Given the description of an element on the screen output the (x, y) to click on. 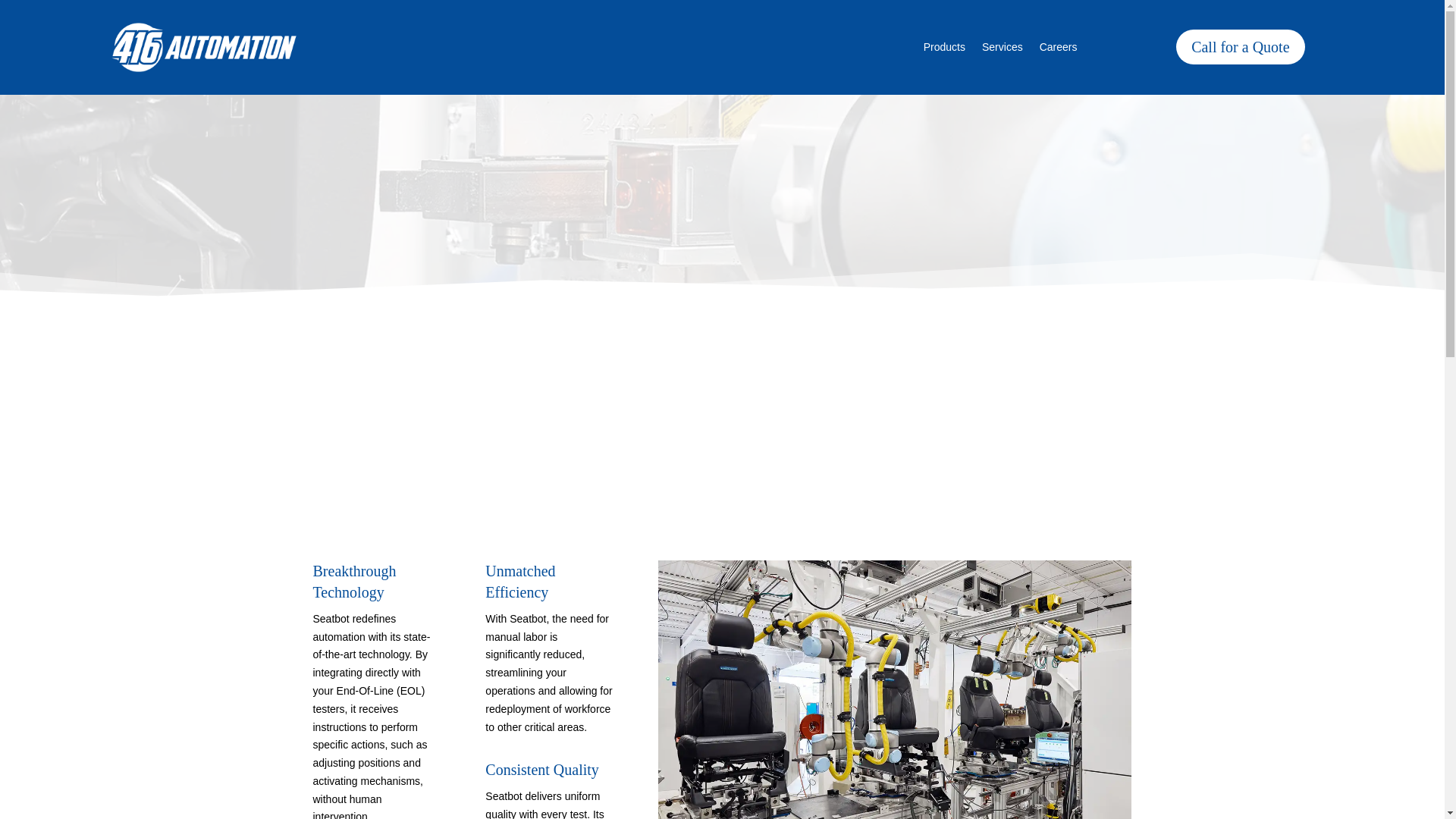
Products (944, 49)
416 Automation Seatbot (894, 689)
Services (1002, 49)
416 Automation Long Logo - White (203, 47)
Careers (1058, 49)
Call for a Quote (1240, 46)
